Given the description of an element on the screen output the (x, y) to click on. 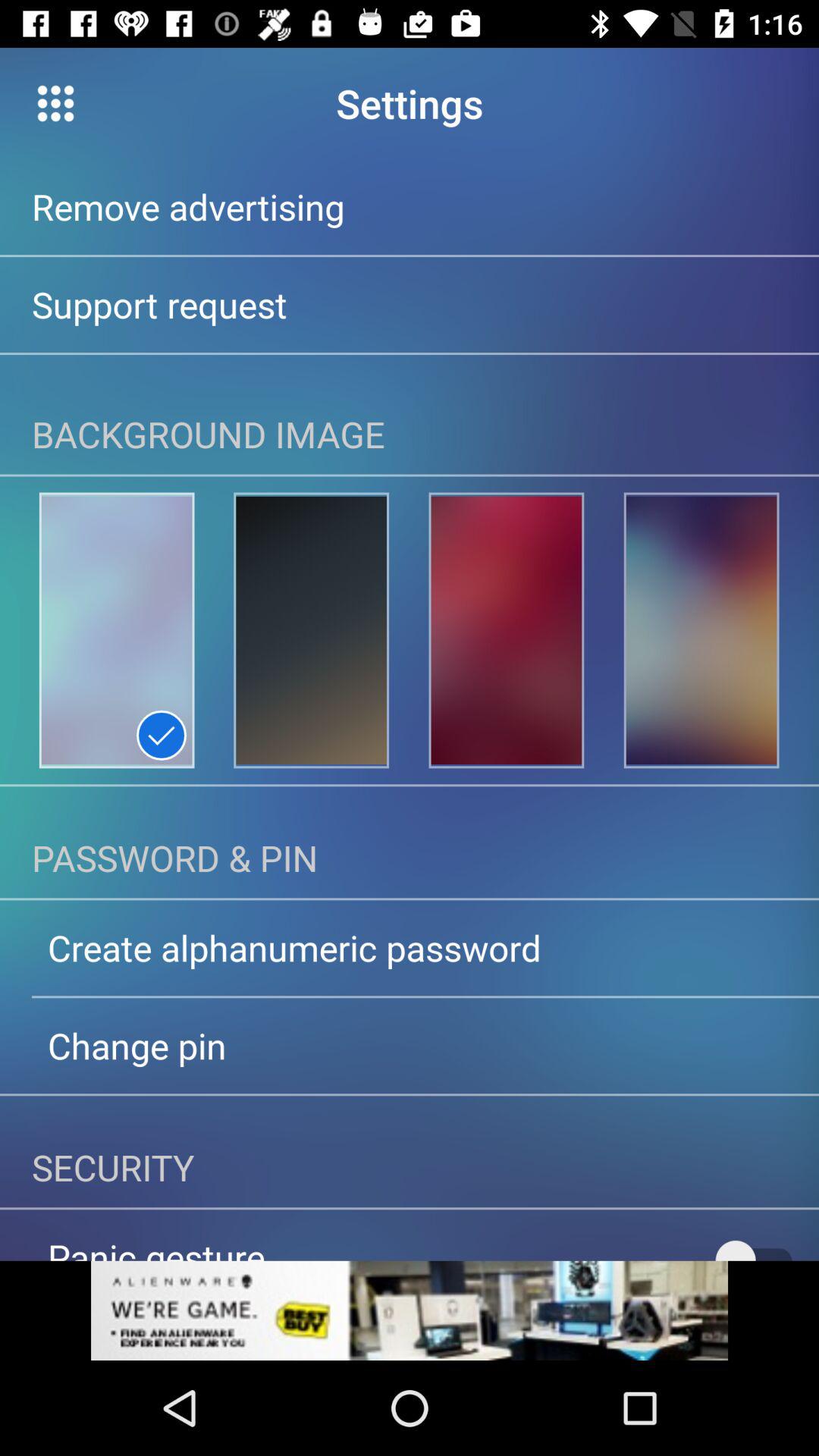
open advertisement (409, 1310)
